Given the description of an element on the screen output the (x, y) to click on. 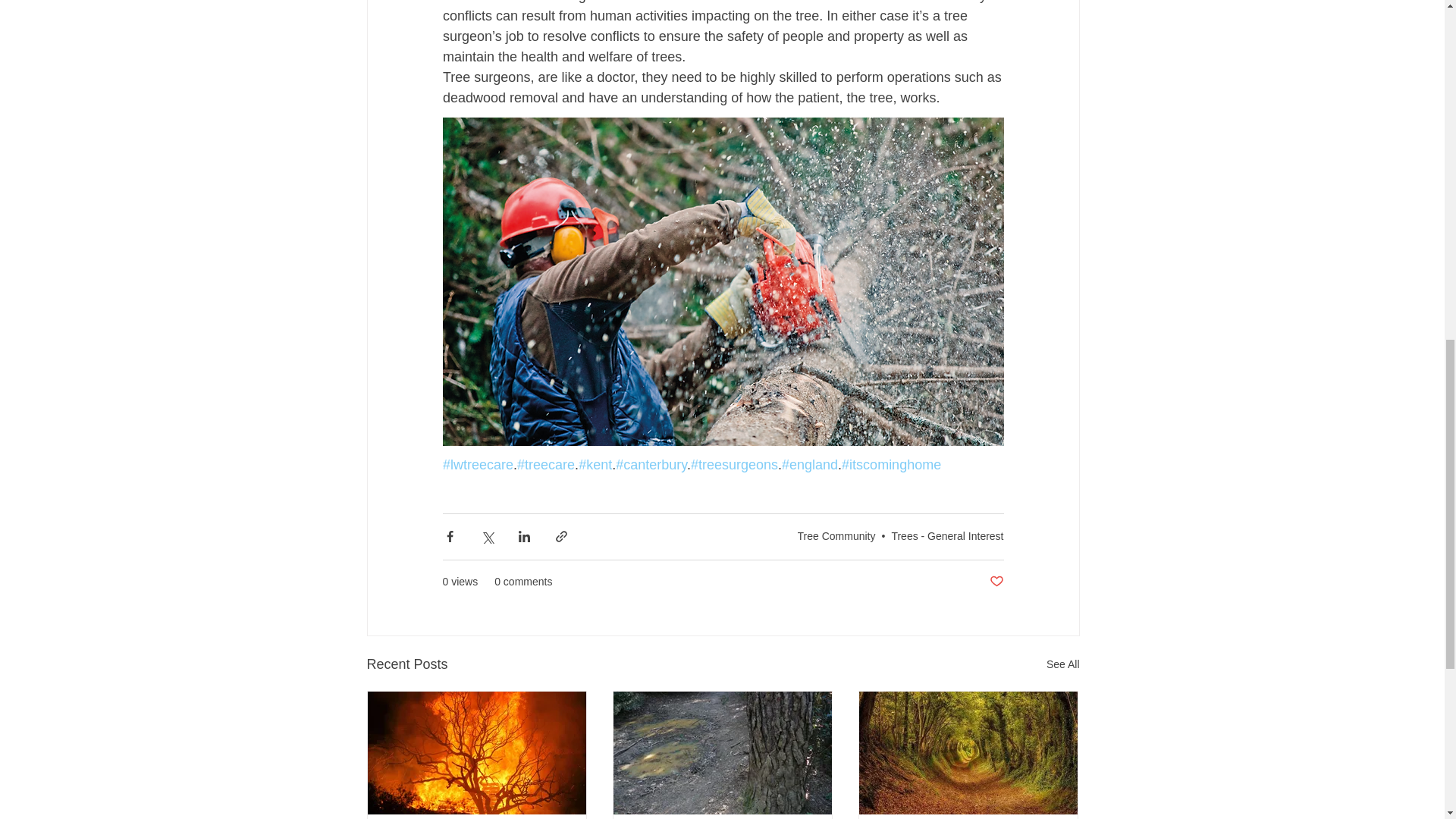
Post not marked as liked (995, 581)
Tree Community (836, 535)
Trees - General Interest (947, 535)
See All (1063, 664)
